Given the description of an element on the screen output the (x, y) to click on. 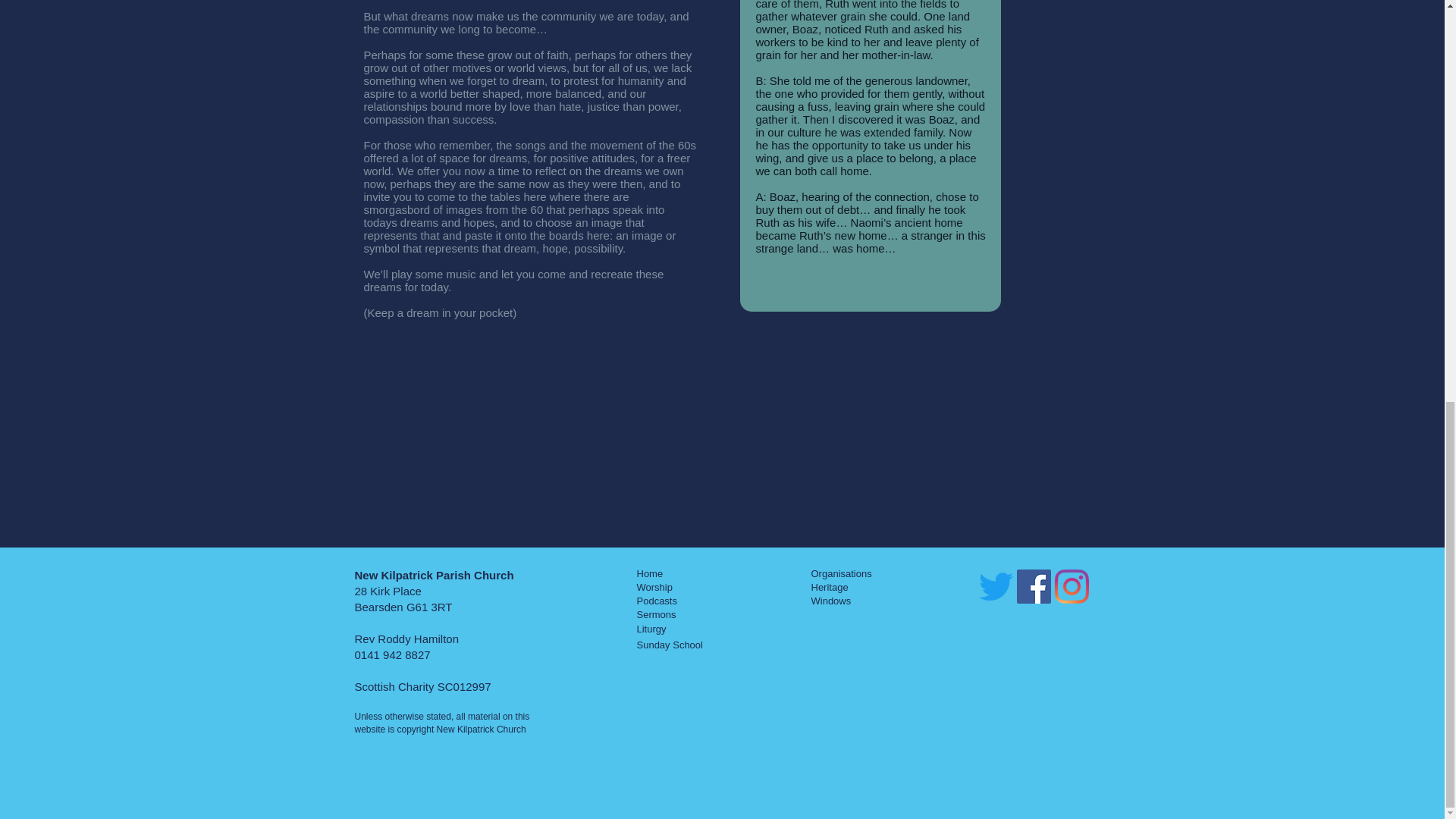
Podcasts (657, 600)
Organisations (841, 573)
Sunday School (670, 644)
Liturgy (651, 628)
Worship (654, 586)
Windows (830, 600)
Heritage (829, 586)
Sermons (657, 614)
Home (650, 573)
